Given the description of an element on the screen output the (x, y) to click on. 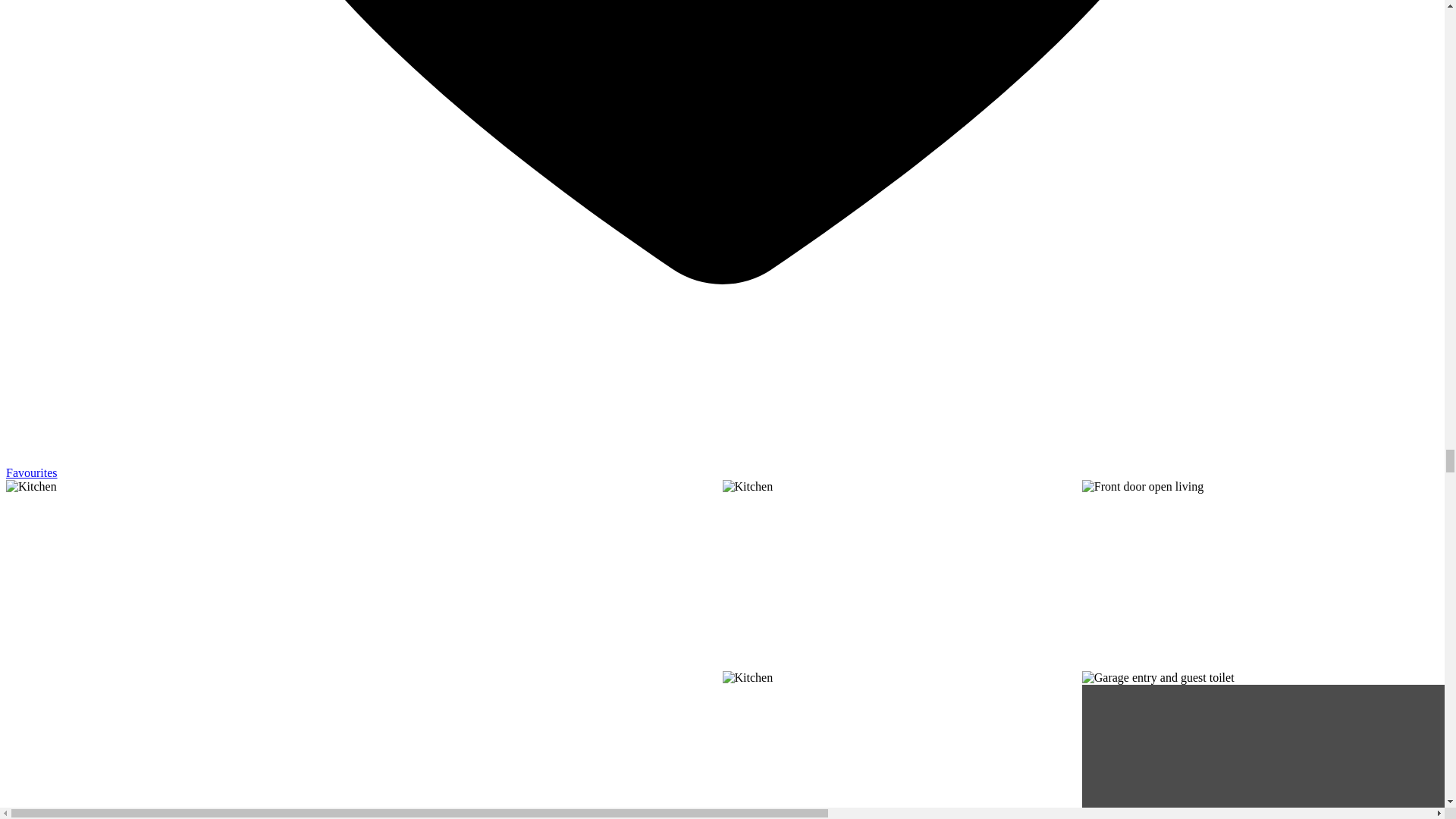
Favourites (721, 465)
Favourites (721, 465)
